Given the description of an element on the screen output the (x, y) to click on. 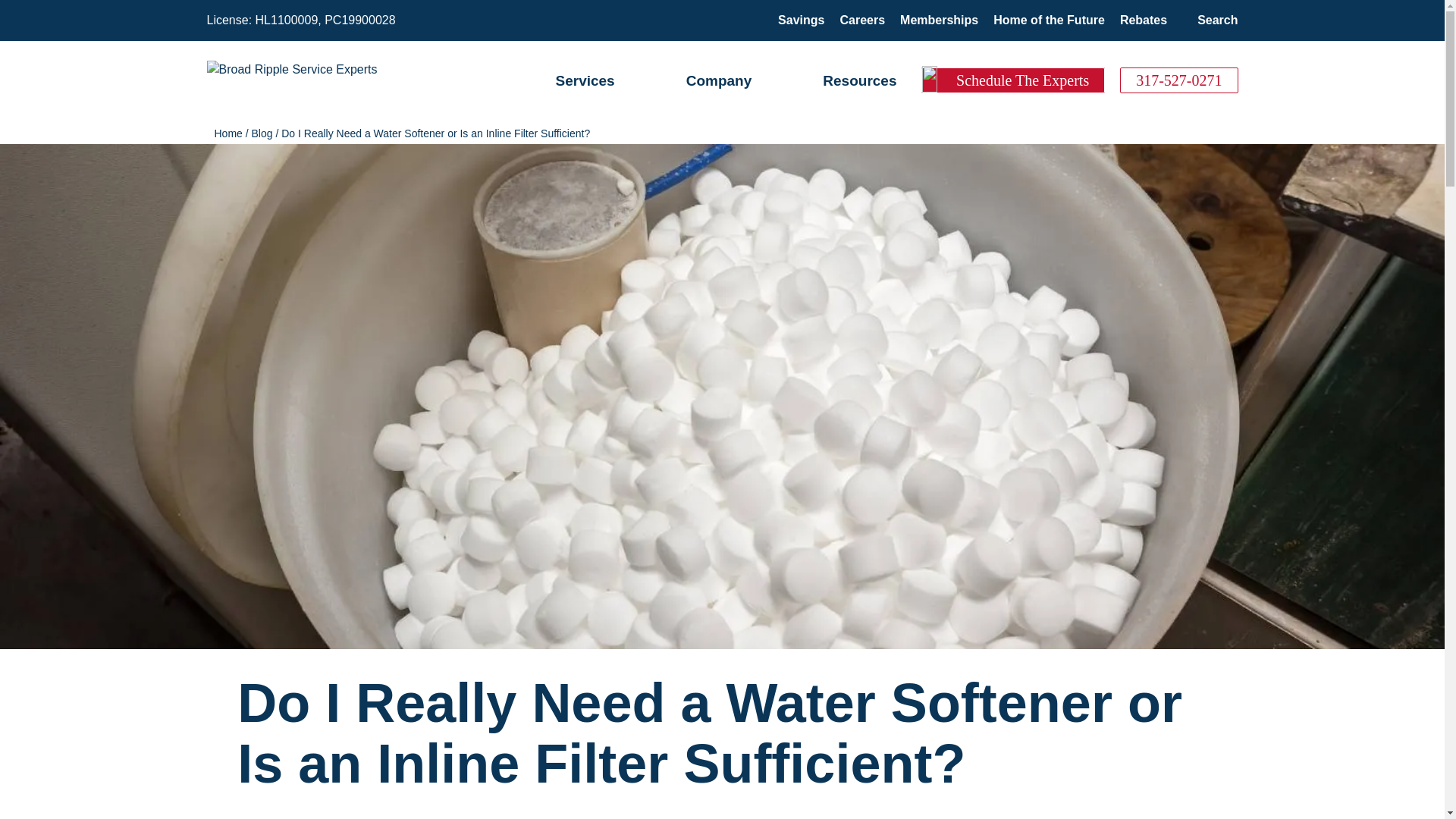
Memberships (938, 19)
Search (1216, 19)
Home of the Future (1048, 19)
Company (718, 80)
Savings (800, 19)
317-527-0271 (1178, 80)
Services (584, 80)
Rebates (1143, 19)
Resources (859, 80)
Schedule The Experts (1013, 80)
Careers (862, 19)
